Given the description of an element on the screen output the (x, y) to click on. 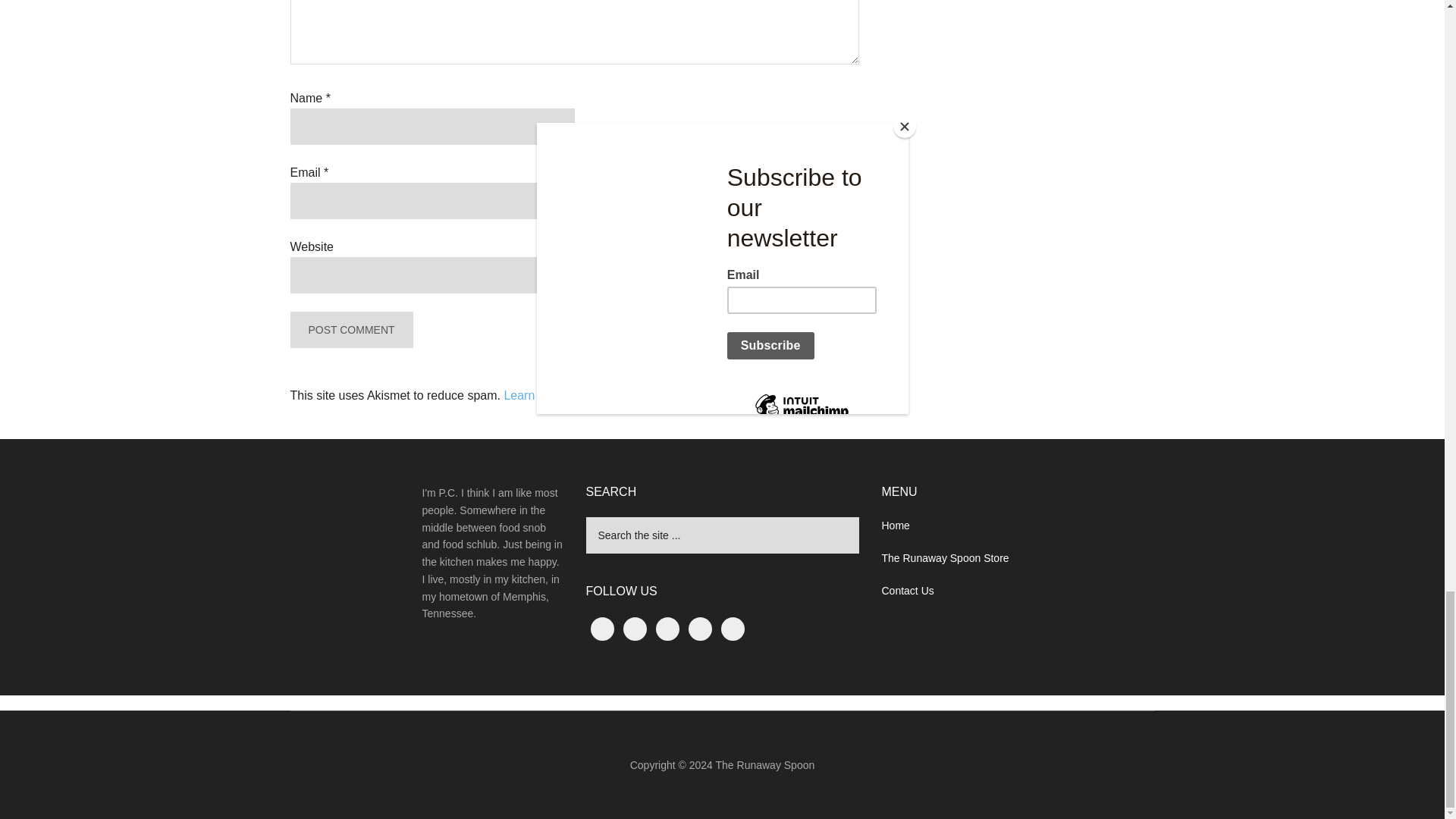
Post Comment (350, 330)
Learn how your comment data is processed (620, 395)
Post Comment (350, 330)
